Given the description of an element on the screen output the (x, y) to click on. 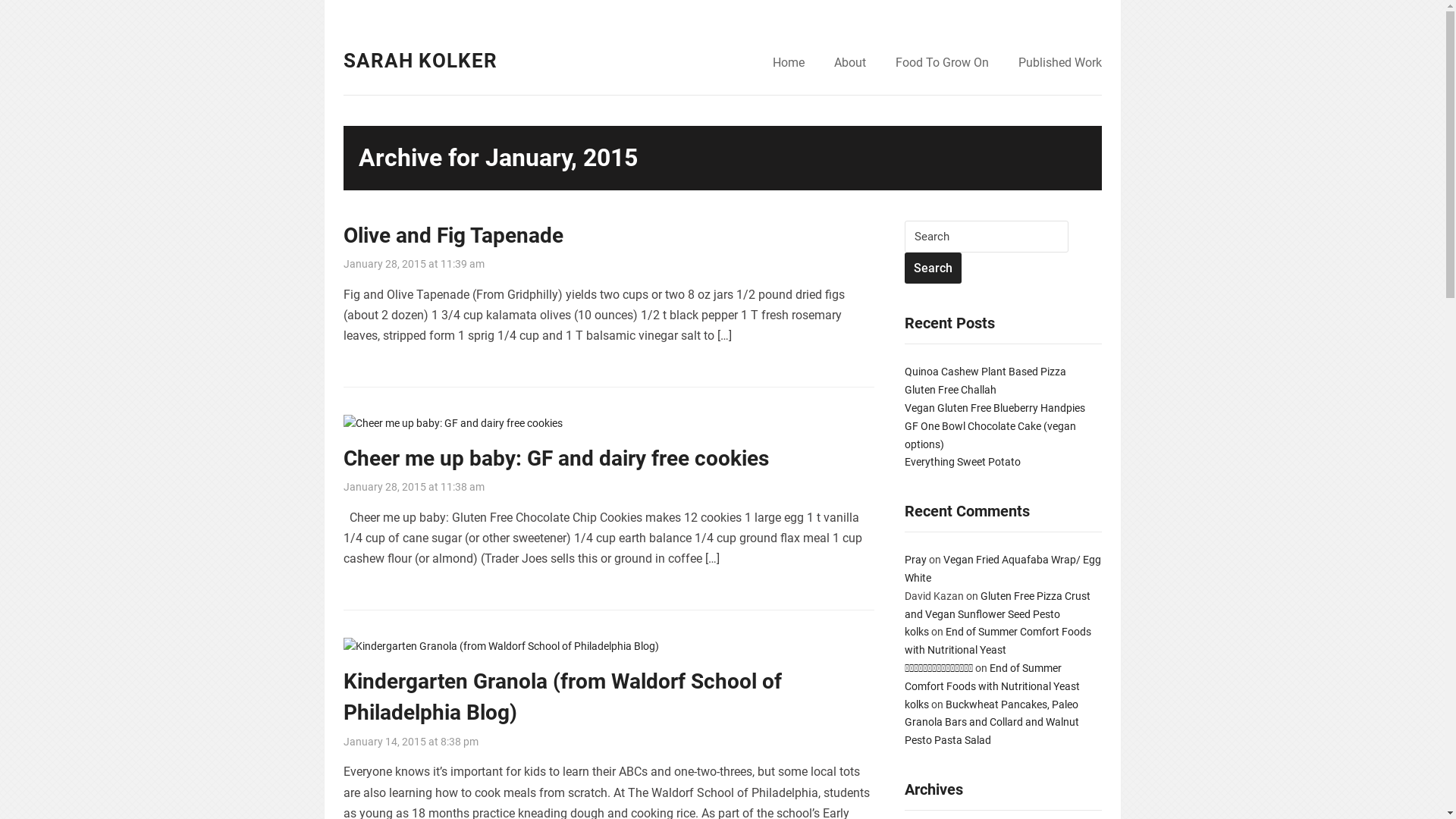
SARAH KOLKER Element type: text (419, 60)
About Element type: text (850, 64)
Cheer me up baby: GF and dairy free cookies Element type: hover (451, 422)
kolks Element type: text (915, 631)
Search Element type: text (931, 268)
GF One Bowl Chocolate Cake (vegan options) Element type: text (989, 435)
Vegan Gluten Free Blueberry Handpies Element type: text (993, 407)
Gluten Free Pizza Crust and Vegan Sunflower Seed Pesto Element type: text (996, 604)
Cheer me up baby: GF and dairy free cookies Element type: text (555, 457)
Vegan Fried Aquafaba Wrap/ Egg White Element type: text (1001, 568)
End of Summer Comfort Foods with Nutritional Yeast Element type: text (991, 677)
Pray Element type: text (914, 559)
Everything Sweet Potato Element type: text (961, 461)
Food To Grow On Element type: text (941, 64)
End of Summer Comfort Foods with Nutritional Yeast Element type: text (996, 640)
Published Work Element type: text (1059, 64)
kolks Element type: text (915, 704)
Home Element type: text (787, 64)
Olive and Fig Tapenade Element type: text (452, 234)
Gluten Free Challah Element type: text (949, 389)
Quinoa Cashew Plant Based Pizza Element type: text (984, 371)
